Given the description of an element on the screen output the (x, y) to click on. 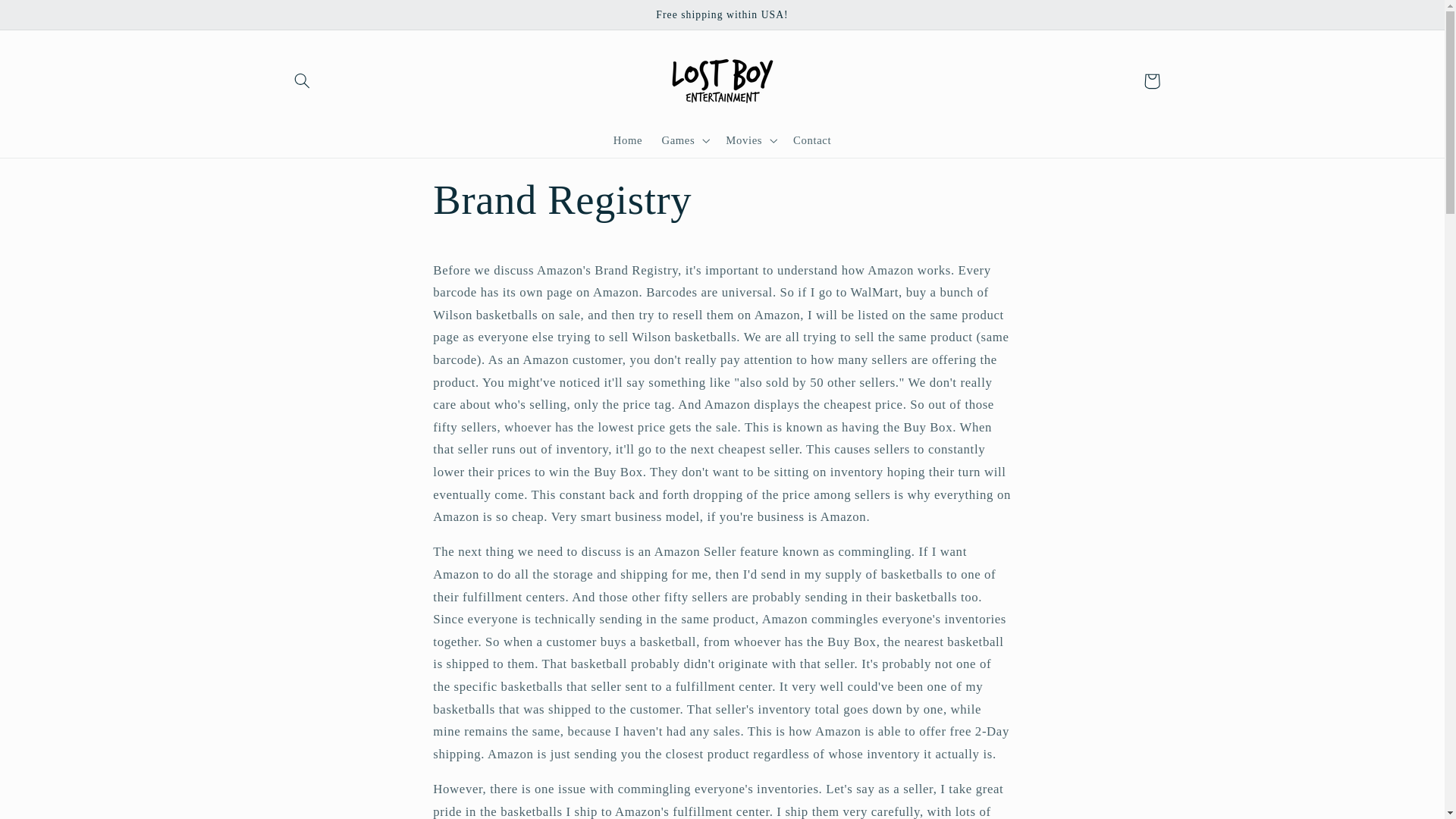
Home (628, 141)
Cart (1151, 80)
Contact (811, 141)
Skip to content (48, 18)
